Given the description of an element on the screen output the (x, y) to click on. 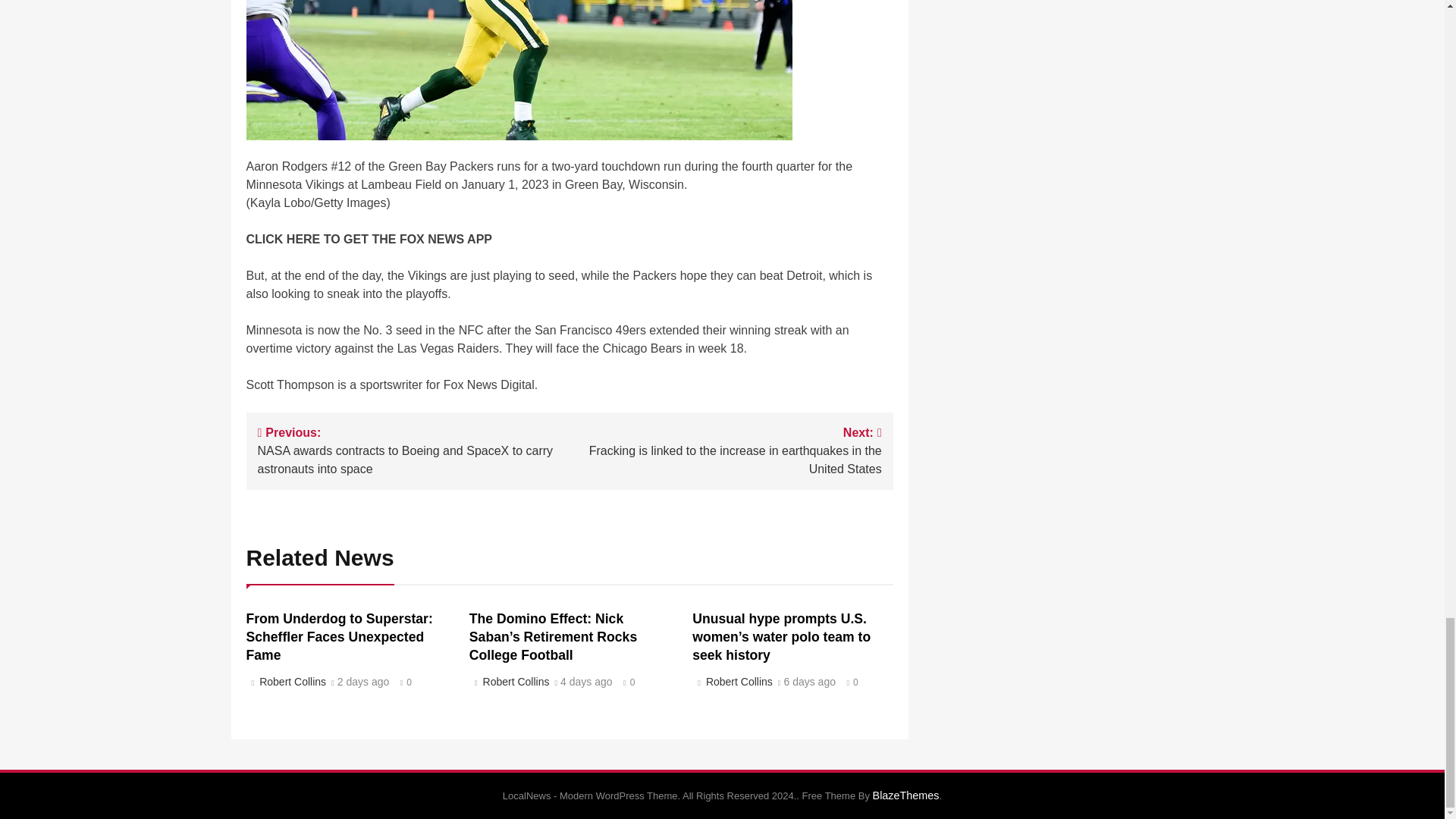
Robert Collins (290, 681)
2 days ago (363, 682)
4 days ago (586, 682)
Robert Collins (513, 681)
From Underdog to Superstar: Scheffler Faces Unexpected Fame (339, 636)
